Given the description of an element on the screen output the (x, y) to click on. 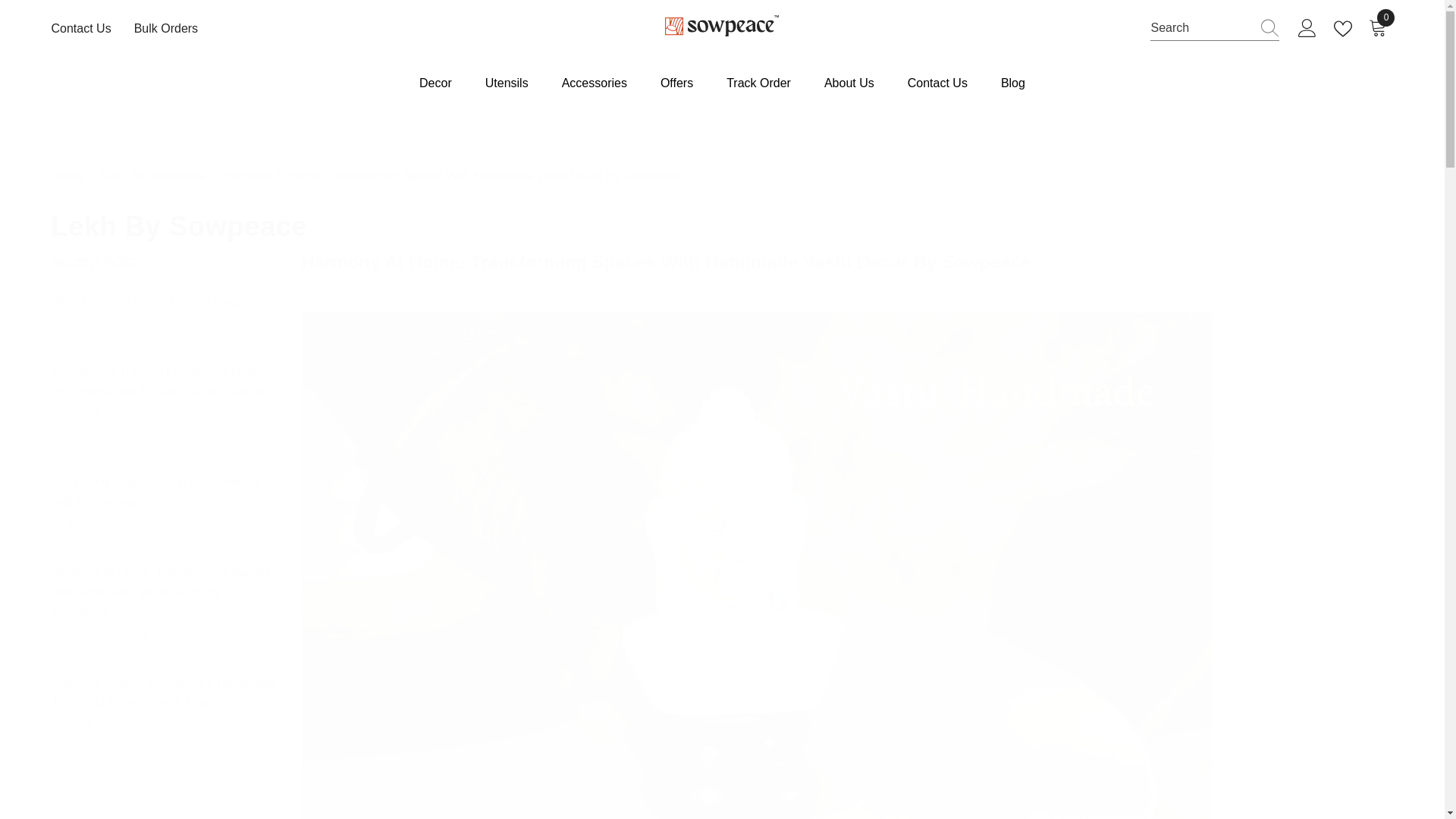
Contact Us (81, 28)
Bulk Orders (165, 28)
Lekh By Sowpeace (721, 221)
